Given the description of an element on the screen output the (x, y) to click on. 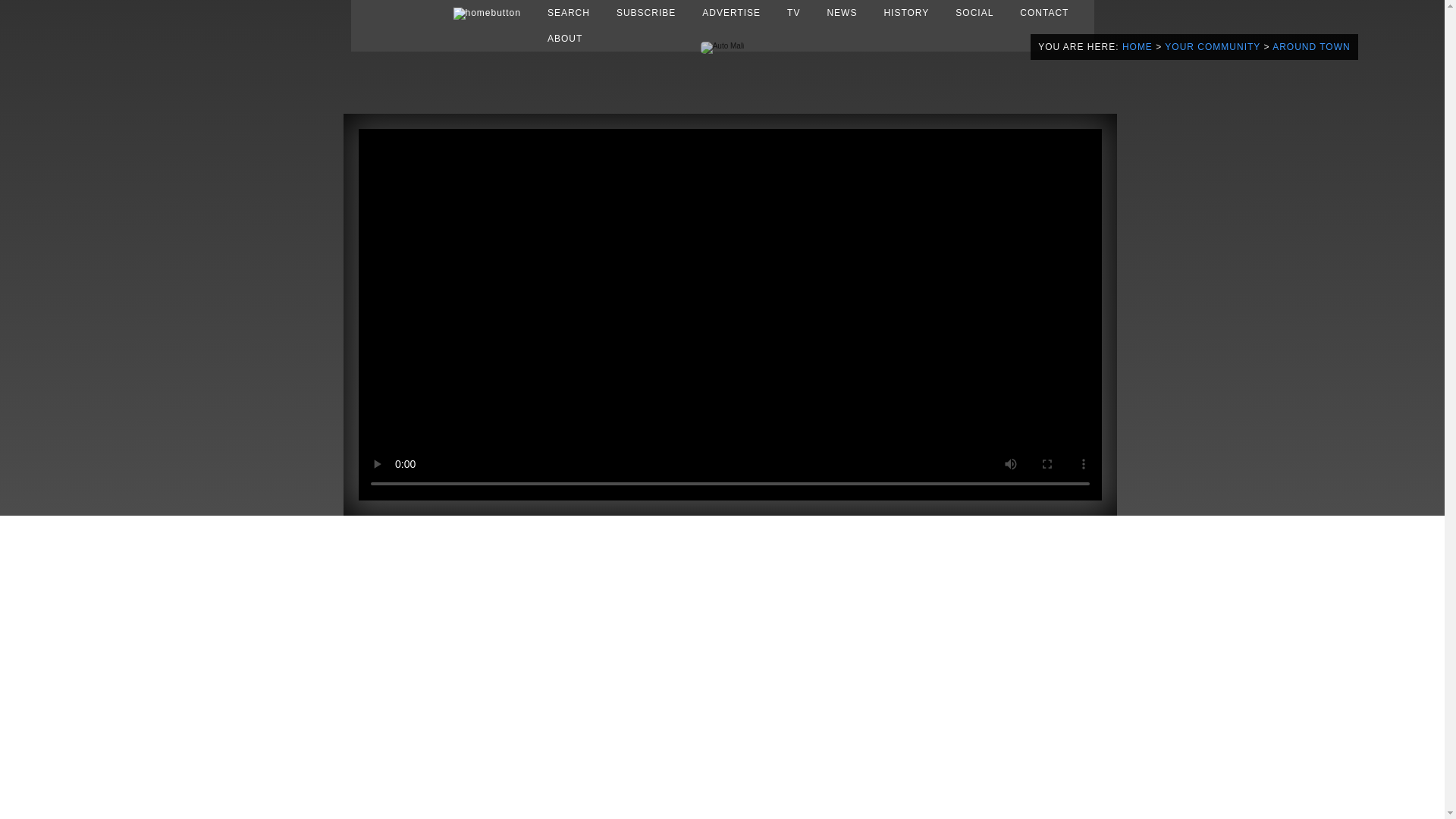
Auto Mall (722, 45)
ADVERTISE (731, 12)
NEWS (841, 12)
SUBSCRIBE (645, 12)
TV (793, 12)
SEARCH (568, 12)
